Given the description of an element on the screen output the (x, y) to click on. 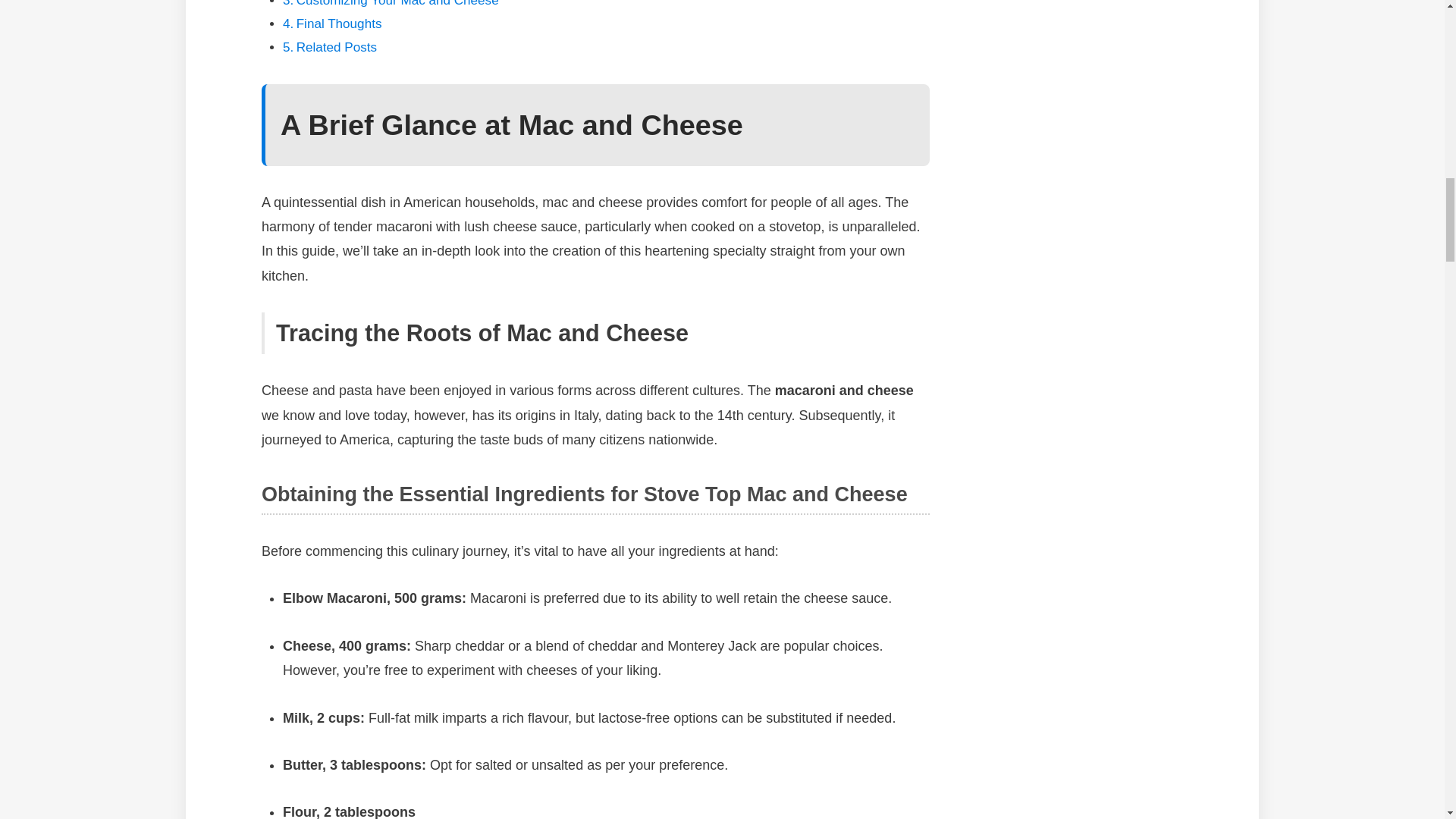
Final Thoughts (339, 23)
Final Thoughts (339, 23)
Customizing Your Mac and Cheese (398, 3)
Related Posts (337, 47)
Related Posts (337, 47)
Customizing Your Mac and Cheese (398, 3)
